Given the description of an element on the screen output the (x, y) to click on. 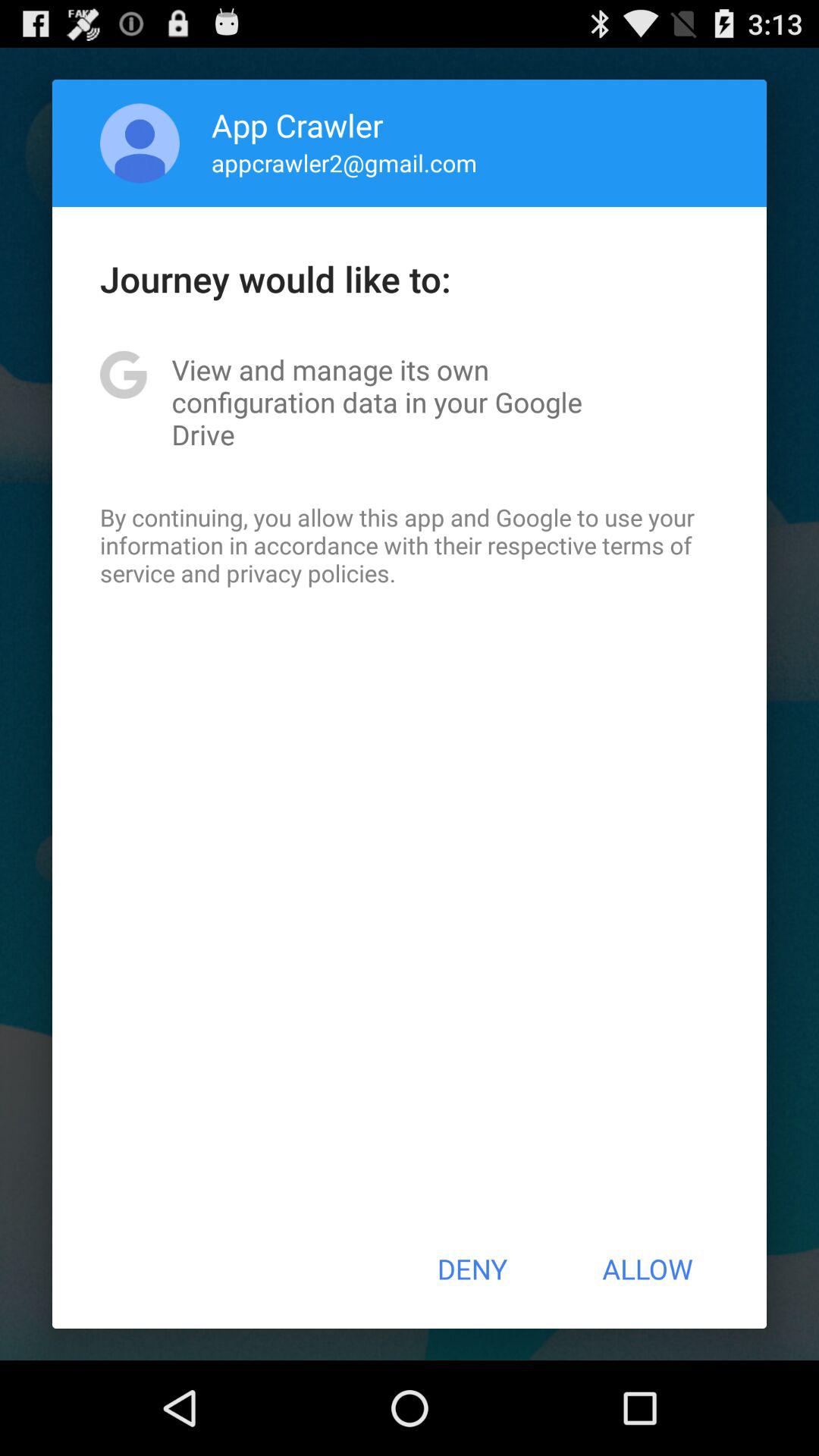
choose the item above the journey would like (139, 143)
